Given the description of an element on the screen output the (x, y) to click on. 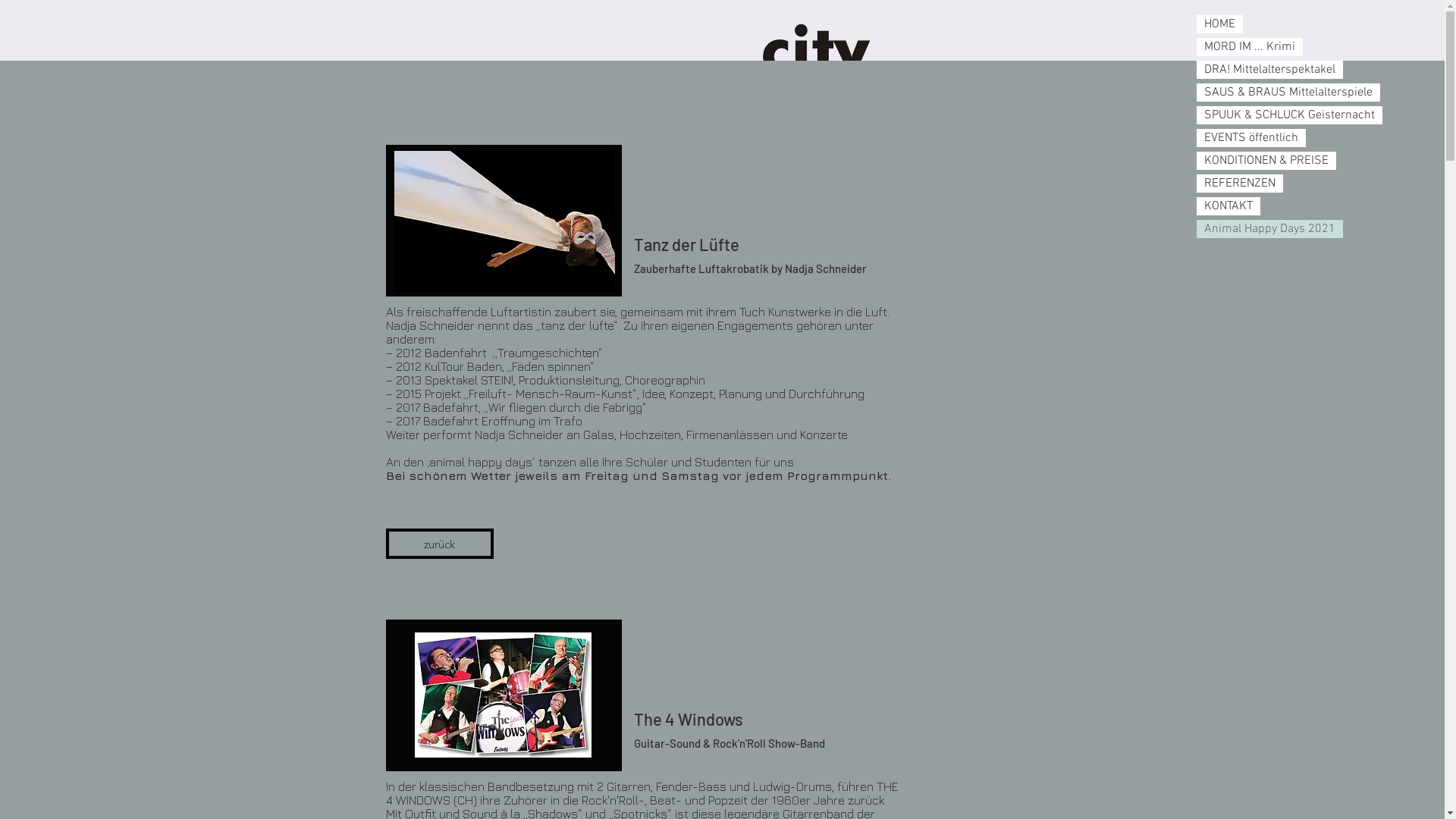
DRA! Mittelalterspektakel Element type: text (1269, 69)
SPUUK & SCHLUCK Geisternacht Element type: text (1289, 115)
KONDITIONEN & PREISE Element type: text (1266, 160)
MORD IM ... Krimi Element type: text (1249, 46)
HOME Element type: text (1219, 24)
SAUS & BRAUS Mittelalterspiele Element type: text (1288, 92)
KONTAKT Element type: text (1228, 206)
REFERENZEN Element type: text (1239, 183)
Animal Happy Days 2021 Element type: text (1269, 228)
